Given the description of an element on the screen output the (x, y) to click on. 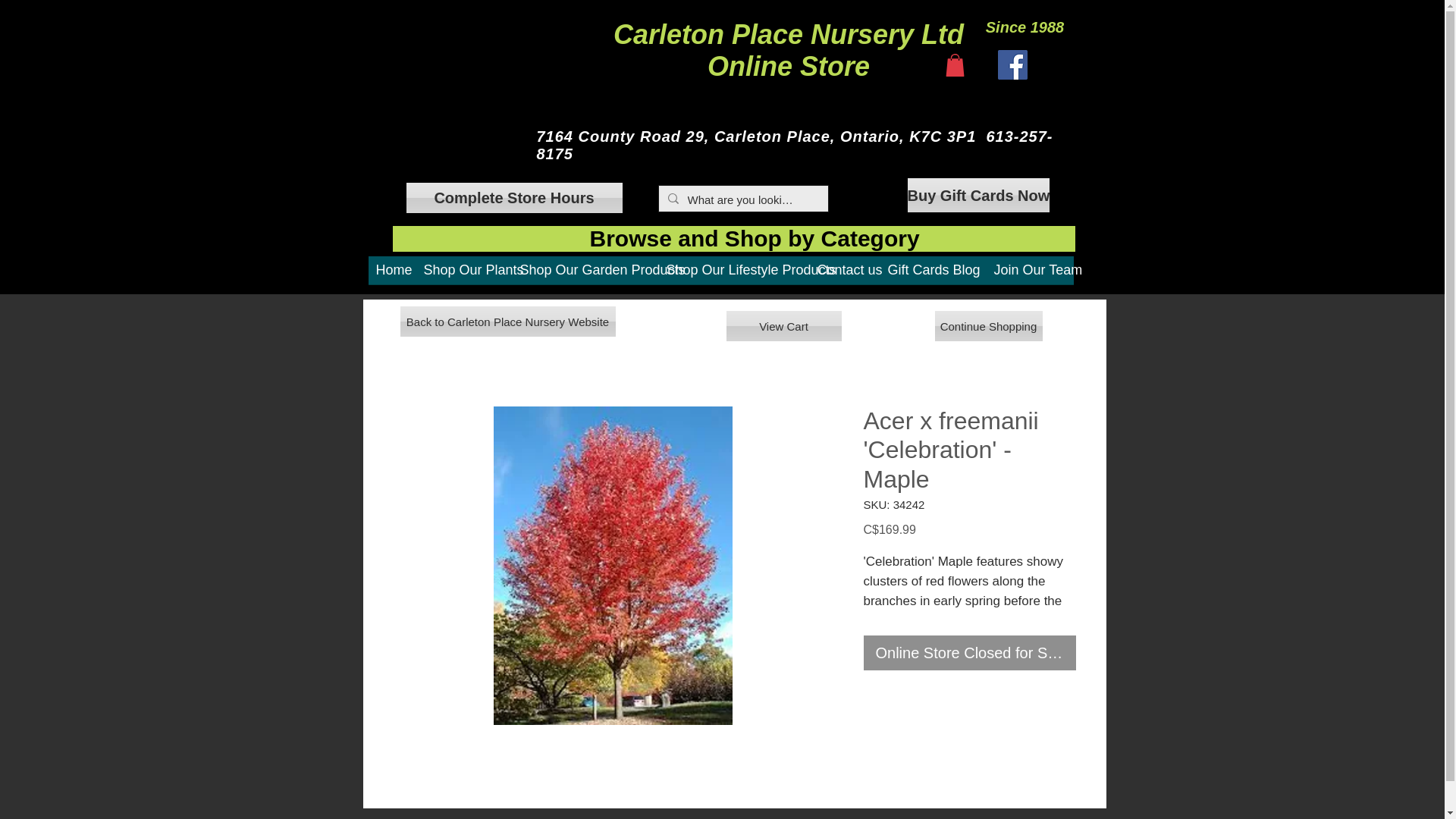
Buy Gift Cards Now (978, 195)
Contact us (844, 275)
Join Our Team (1029, 275)
Back to Carleton Place Nursery Website (507, 321)
View Cart (783, 326)
Continue Shopping (787, 49)
Shop Our Garden Products (988, 326)
Online Store Closed for Season (585, 275)
Complete Store Hours (969, 652)
Home (514, 197)
Blog (392, 275)
Shop Our Plants (964, 275)
Shop Our Lifestyle Products (463, 275)
Gift Cards (733, 275)
